Given the description of an element on the screen output the (x, y) to click on. 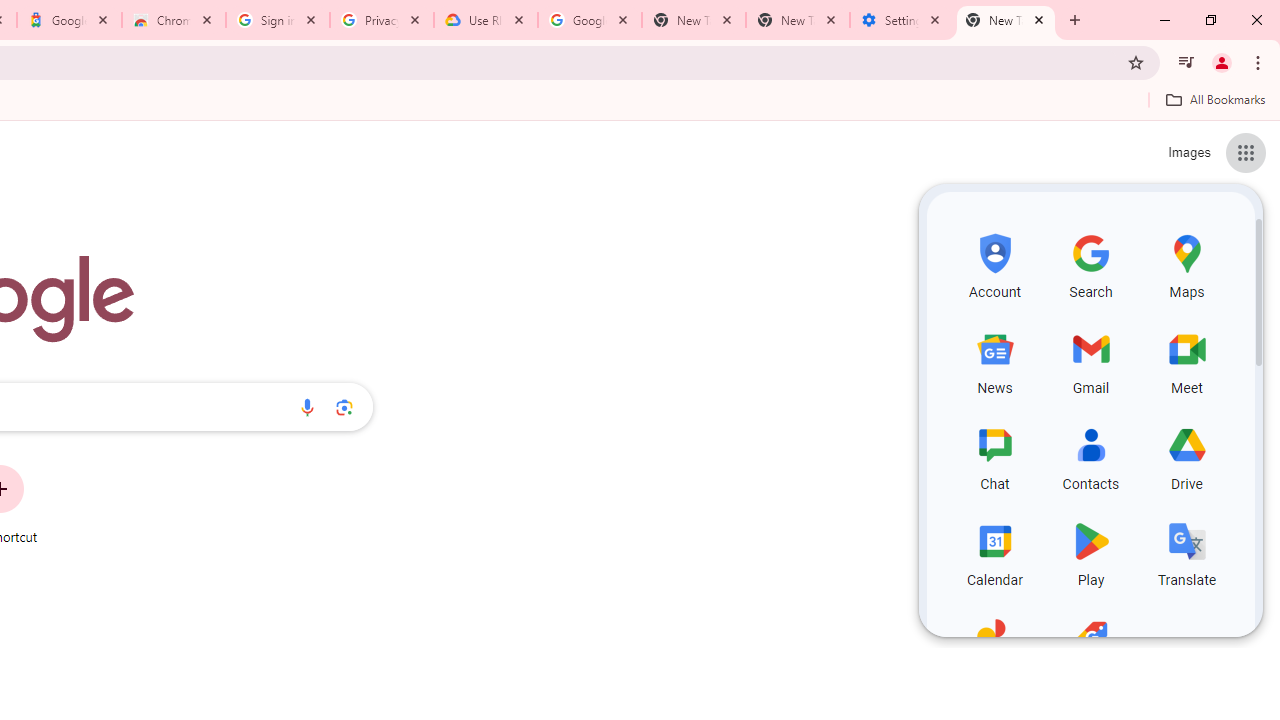
Drive, row 3 of 5 and column 3 of 3 in the first section (1186, 455)
Google (68, 20)
Photos, row 5 of 5 and column 1 of 3 in the first section (994, 647)
Chrome Web Store - Color themes by Chrome (173, 20)
New Tab (1005, 20)
New Tab (797, 20)
Account, row 1 of 5 and column 1 of 3 in the first section (994, 263)
Shopping, row 5 of 5 and column 2 of 3 in the first section (1090, 647)
News, row 2 of 5 and column 1 of 3 in the first section (994, 359)
